Given the description of an element on the screen output the (x, y) to click on. 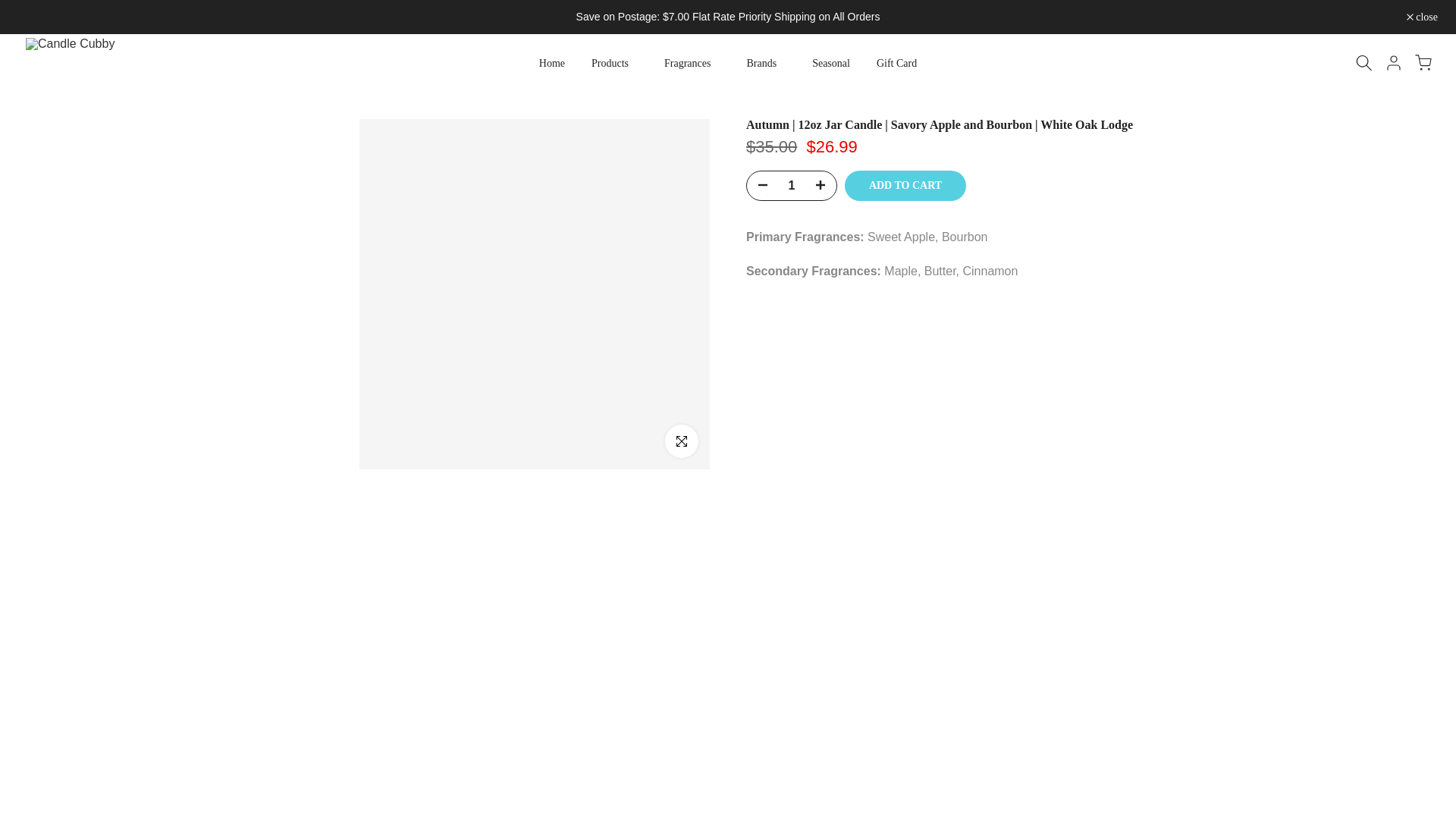
Home (551, 63)
1 (791, 185)
close (1422, 17)
Skip to content (10, 7)
ADD TO CART (905, 185)
Fragrances (691, 63)
Seasonal (831, 63)
Gift Card (896, 63)
Products (614, 63)
Brands (766, 63)
